Given the description of an element on the screen output the (x, y) to click on. 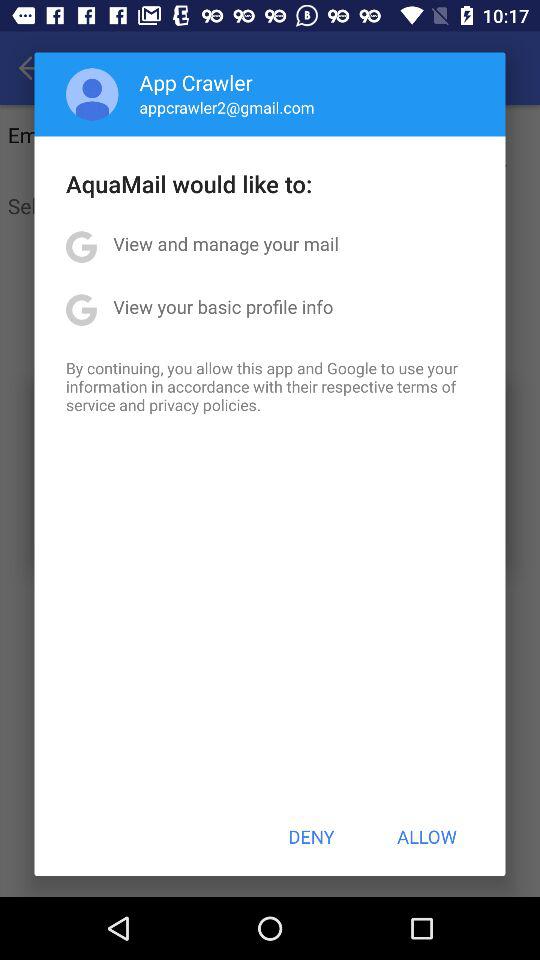
click icon to the left of the app crawler (92, 94)
